Given the description of an element on the screen output the (x, y) to click on. 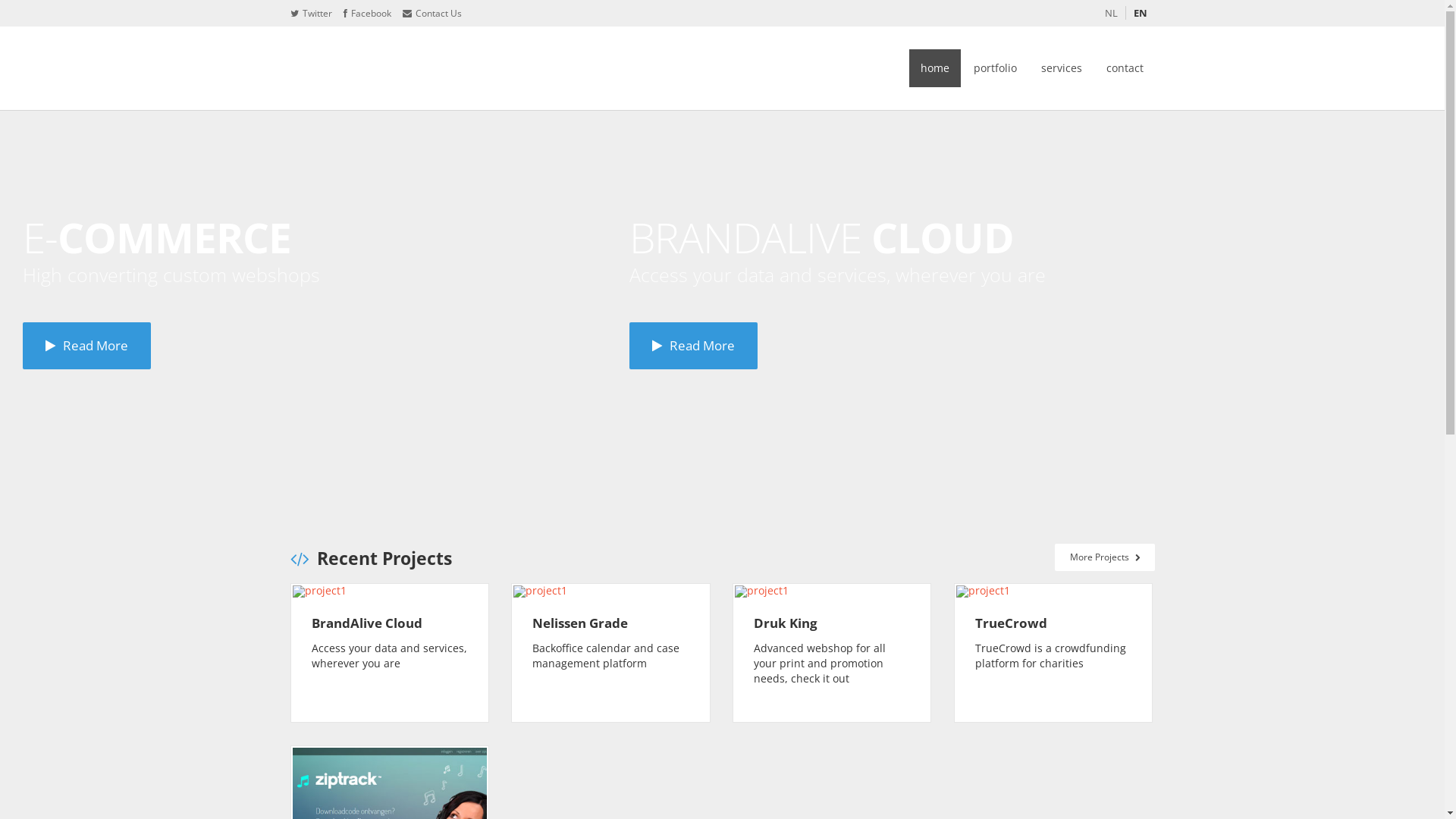
Twitter Element type: text (310, 12)
TrueCrowd
TrueCrowd is a crowdfunding platform for charities Element type: text (1053, 652)
NL Element type: text (1114, 12)
portfolio Element type: text (994, 68)
services Element type: text (1061, 68)
home Element type: text (934, 68)
contact Element type: text (1124, 68)
Facebook Element type: text (366, 12)
Contact Us Element type: text (431, 12)
BrandAlive Element type: text (387, 67)
More Projects Element type: text (1104, 557)
Read More Element type: text (86, 345)
Read More Element type: text (693, 345)
EN Element type: text (1139, 12)
